Given the description of an element on the screen output the (x, y) to click on. 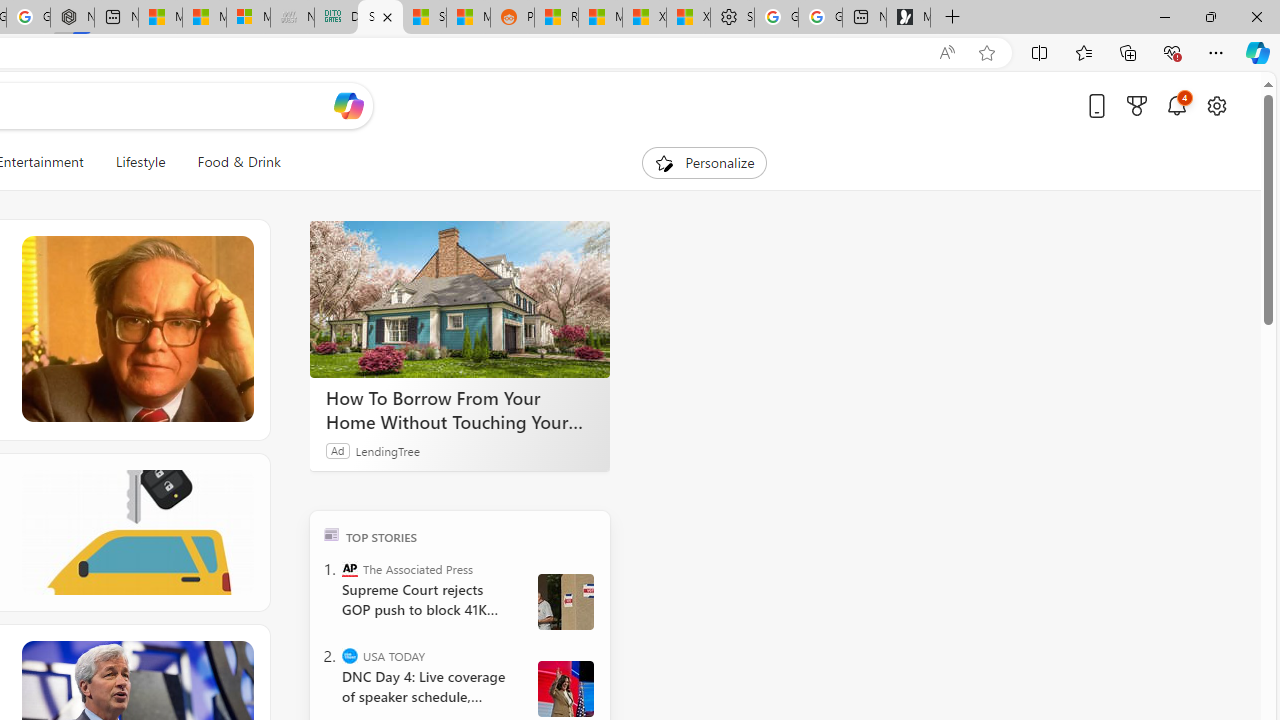
The Associated Press (349, 568)
DITOGAMES AG Imprint (336, 17)
Ad (338, 450)
Lifestyle (140, 162)
Warren Buffett shares dead-simple investing lesson (136, 329)
How To Borrow From Your Home Without Touching Your Mortgage (459, 299)
TOP (331, 534)
Microsoft rewards (1137, 105)
